Given the description of an element on the screen output the (x, y) to click on. 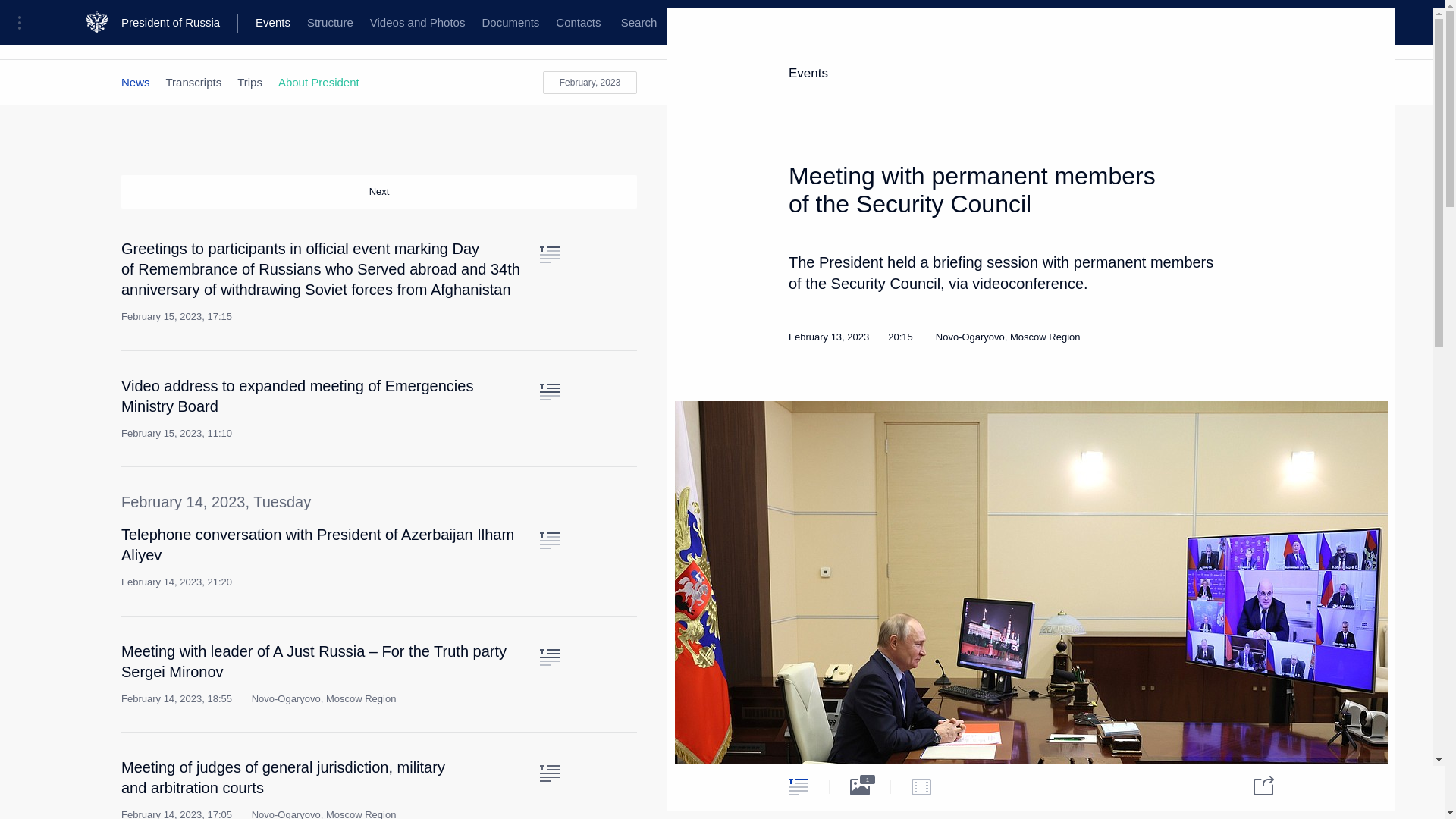
Events (272, 22)
Text of the article (549, 254)
Text of the article (549, 540)
Next (378, 191)
Global website search (638, 22)
Presidential Executive Office (257, 35)
Text of the article (549, 657)
About President (318, 82)
President of Russia (179, 22)
State Council (378, 35)
Structure (329, 22)
Text of the article (549, 392)
